Given the description of an element on the screen output the (x, y) to click on. 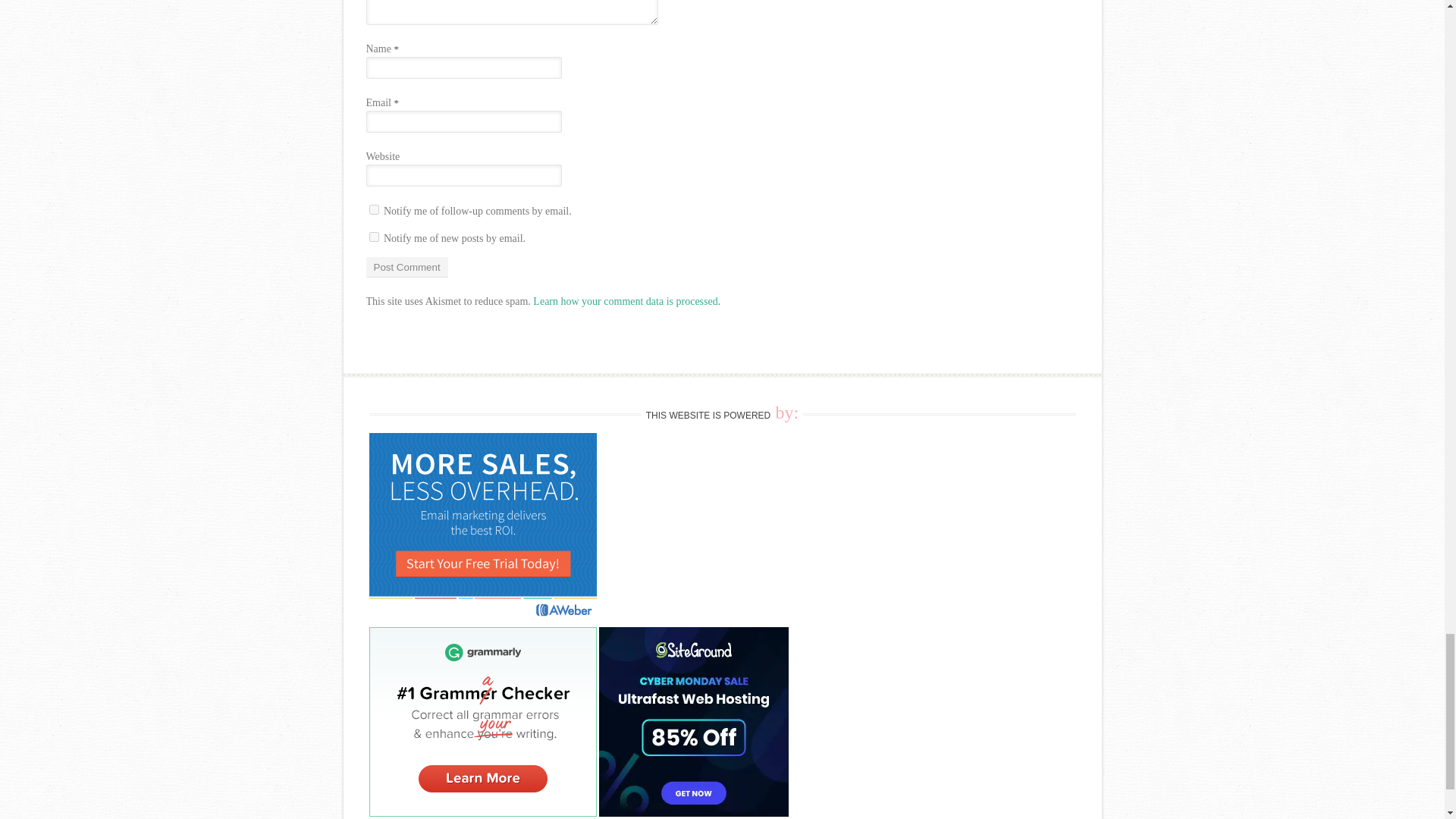
subscribe (373, 209)
subscribe (373, 236)
Post Comment (405, 267)
